Given the description of an element on the screen output the (x, y) to click on. 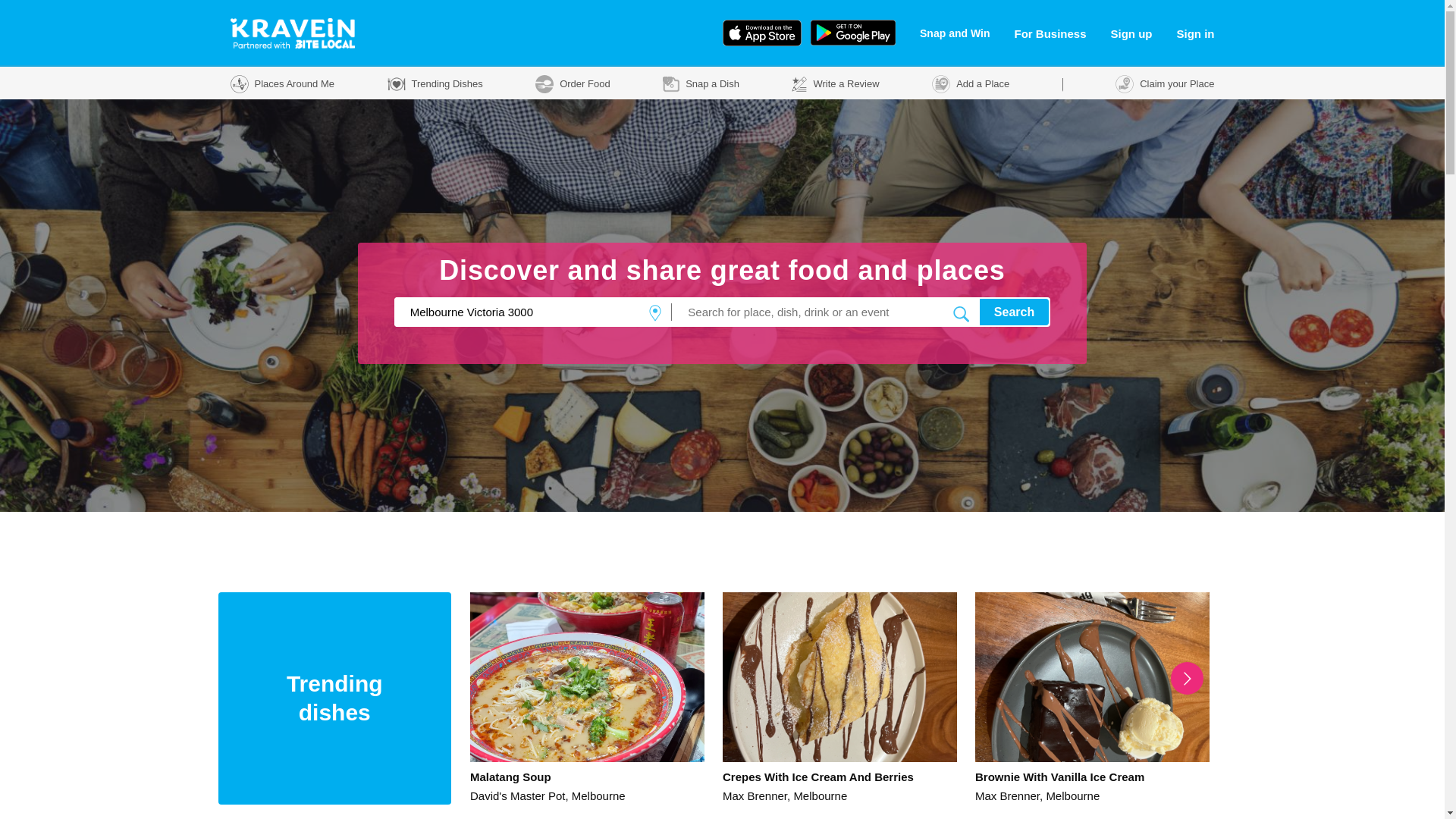
Snap a Dish Element type: text (700, 84)
Order Food Element type: text (572, 84)
Trending
dishes Element type: text (334, 698)
Write a Review Element type: text (834, 84)
Places Around Me Element type: text (282, 84)
Add a Place Element type: text (970, 84)
Crepes With Ice Cream And Berries Element type: text (839, 775)
Brownie With Vanilla Ice Cream Element type: text (1092, 775)
Malatang Soup Element type: text (587, 775)
Claim your Place Element type: text (1164, 84)
Trending Dishes Element type: text (434, 84)
Search Element type: text (1013, 311)
